Given the description of an element on the screen output the (x, y) to click on. 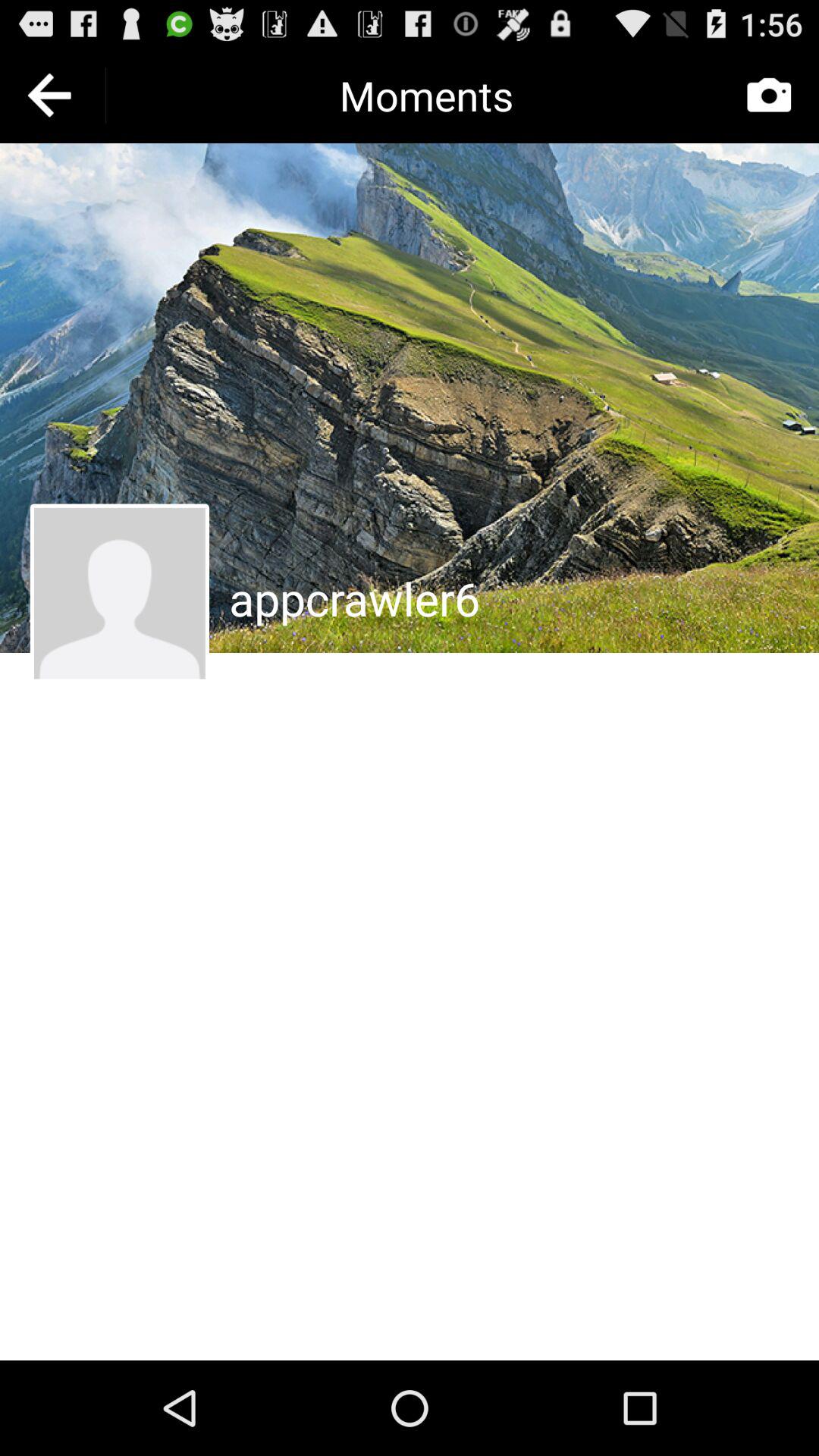
change profile picture (119, 593)
